Given the description of an element on the screen output the (x, y) to click on. 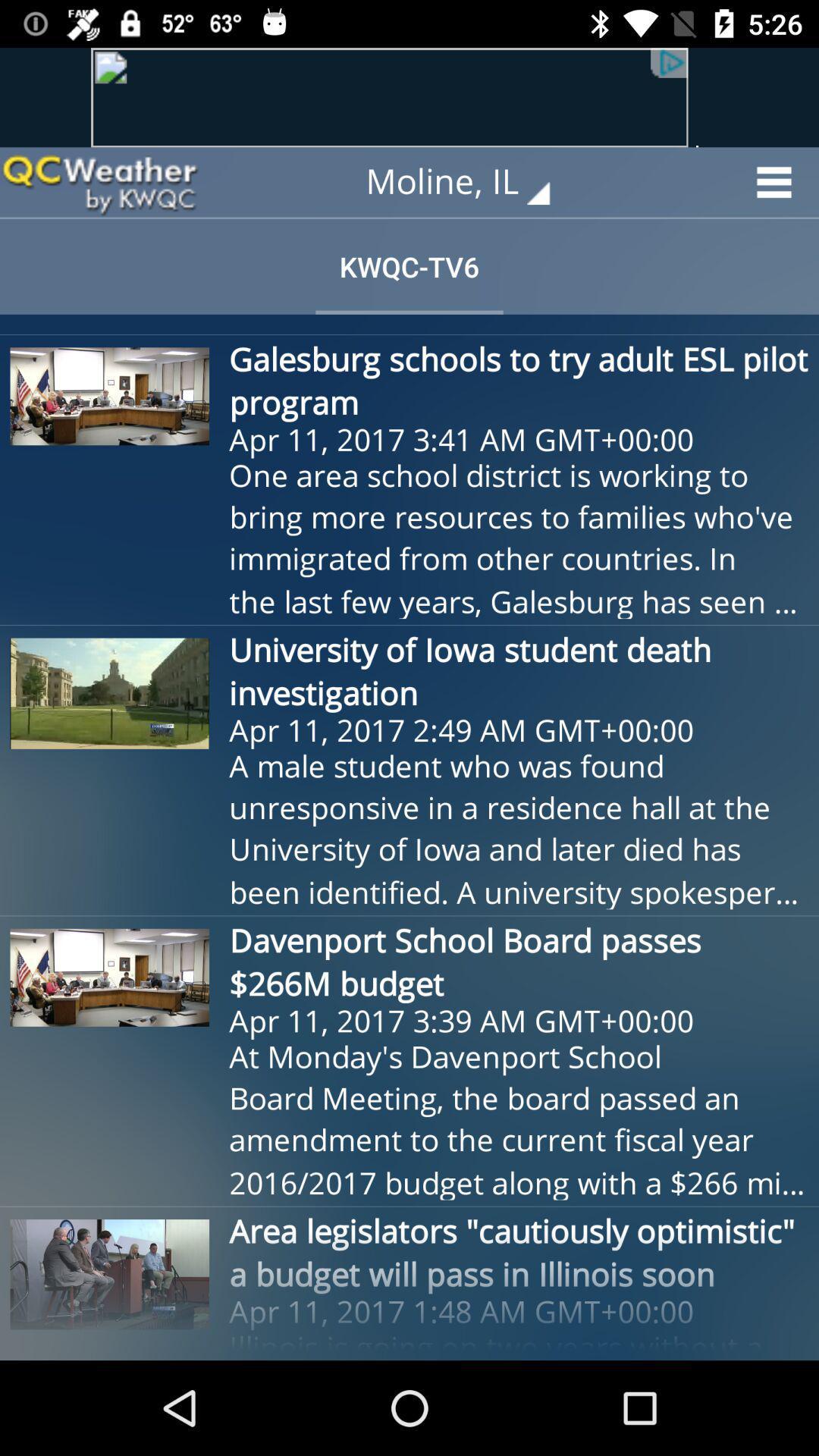
choose the item to the left of moline, il (99, 182)
